Given the description of an element on the screen output the (x, y) to click on. 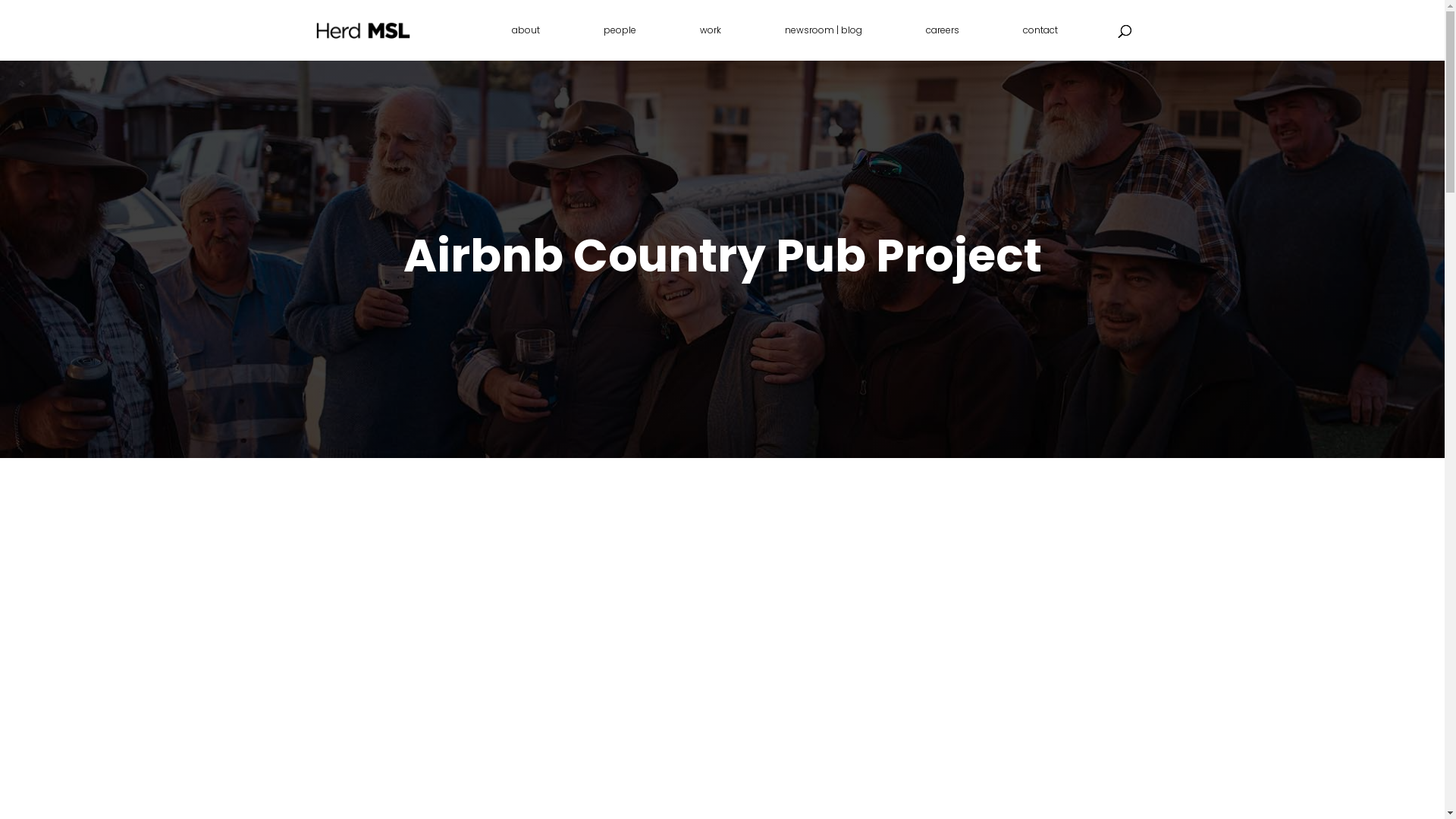
contact Element type: text (1039, 42)
careers Element type: text (941, 42)
work Element type: text (709, 42)
about Element type: text (525, 42)
newsroom | blog Element type: text (822, 42)
people Element type: text (619, 42)
